Given the description of an element on the screen output the (x, y) to click on. 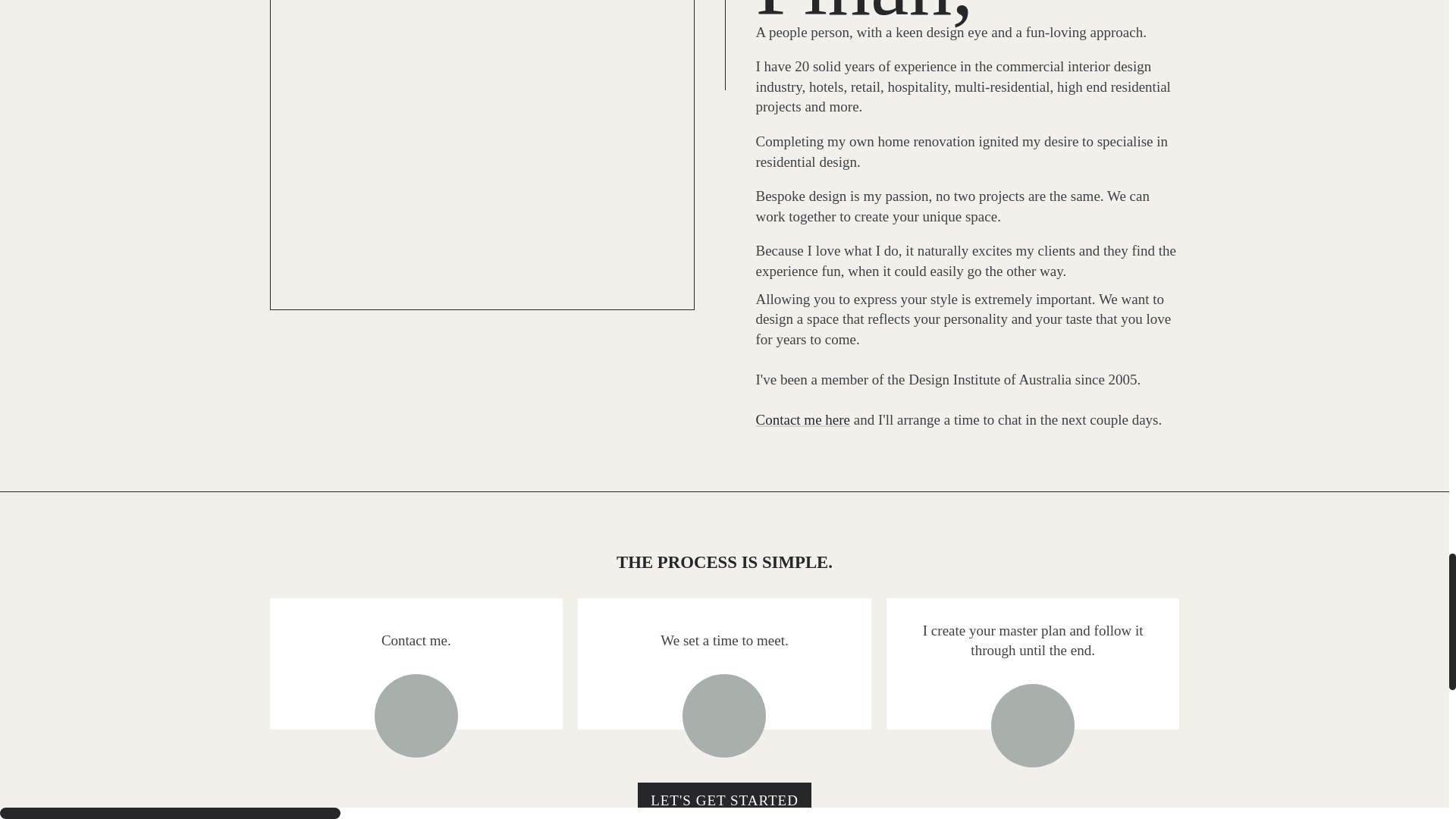
LET'S GET STARTED (723, 800)
Contact me here (802, 419)
